Given the description of an element on the screen output the (x, y) to click on. 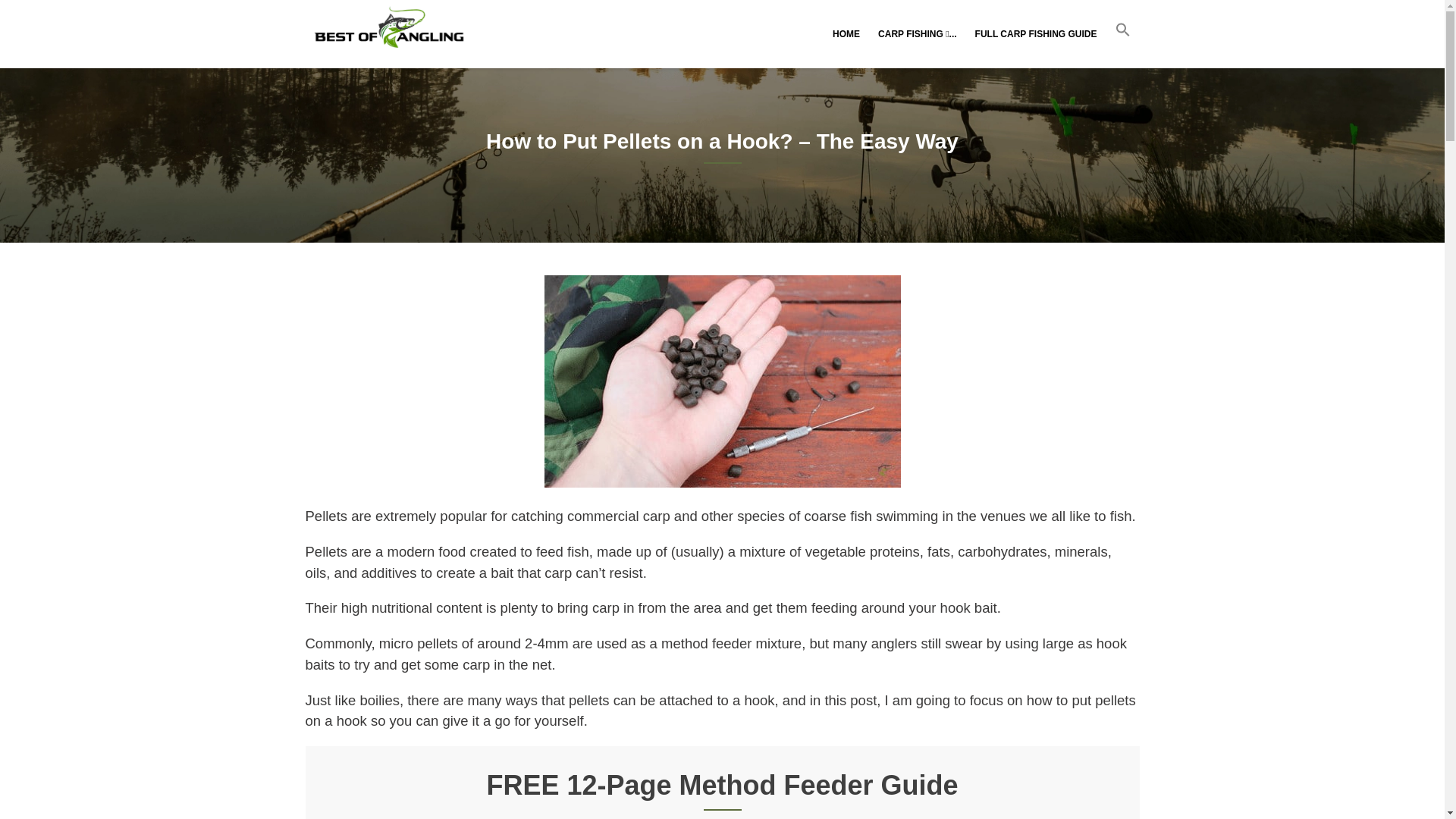
FULL CARP FISHING GUIDE (1036, 33)
CARP FISHING ... (917, 33)
